Given the description of an element on the screen output the (x, y) to click on. 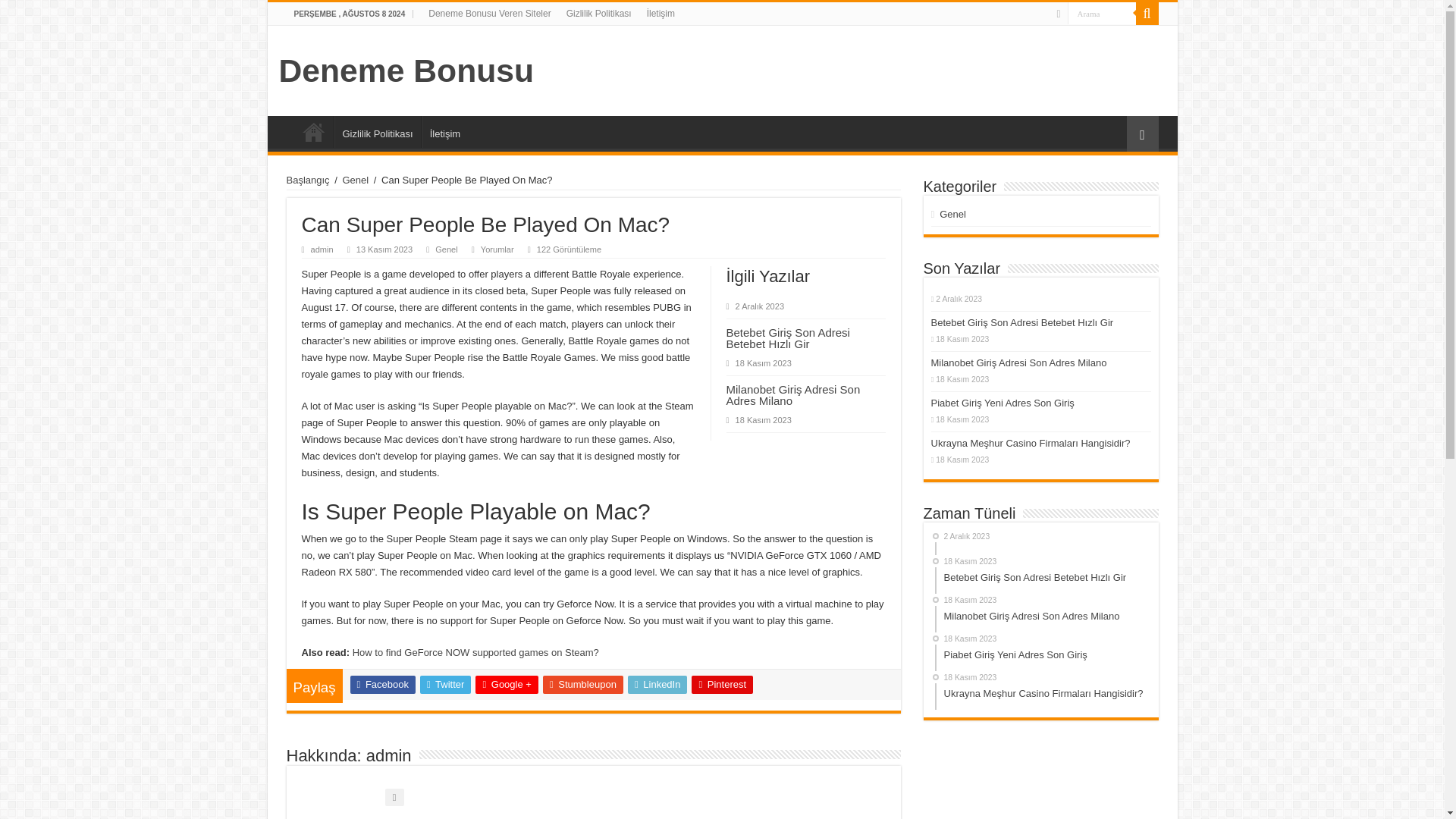
Deneme Bonusu Veren Siteler (313, 132)
How to find GeForce NOW supported games on Steam? (475, 652)
Genel (355, 179)
admin (322, 248)
Arama (1146, 13)
Yorumlar (496, 248)
LinkedIn (657, 684)
Genel (446, 248)
Deneme Bonusu (406, 70)
Pinterest (721, 684)
